Given the description of an element on the screen output the (x, y) to click on. 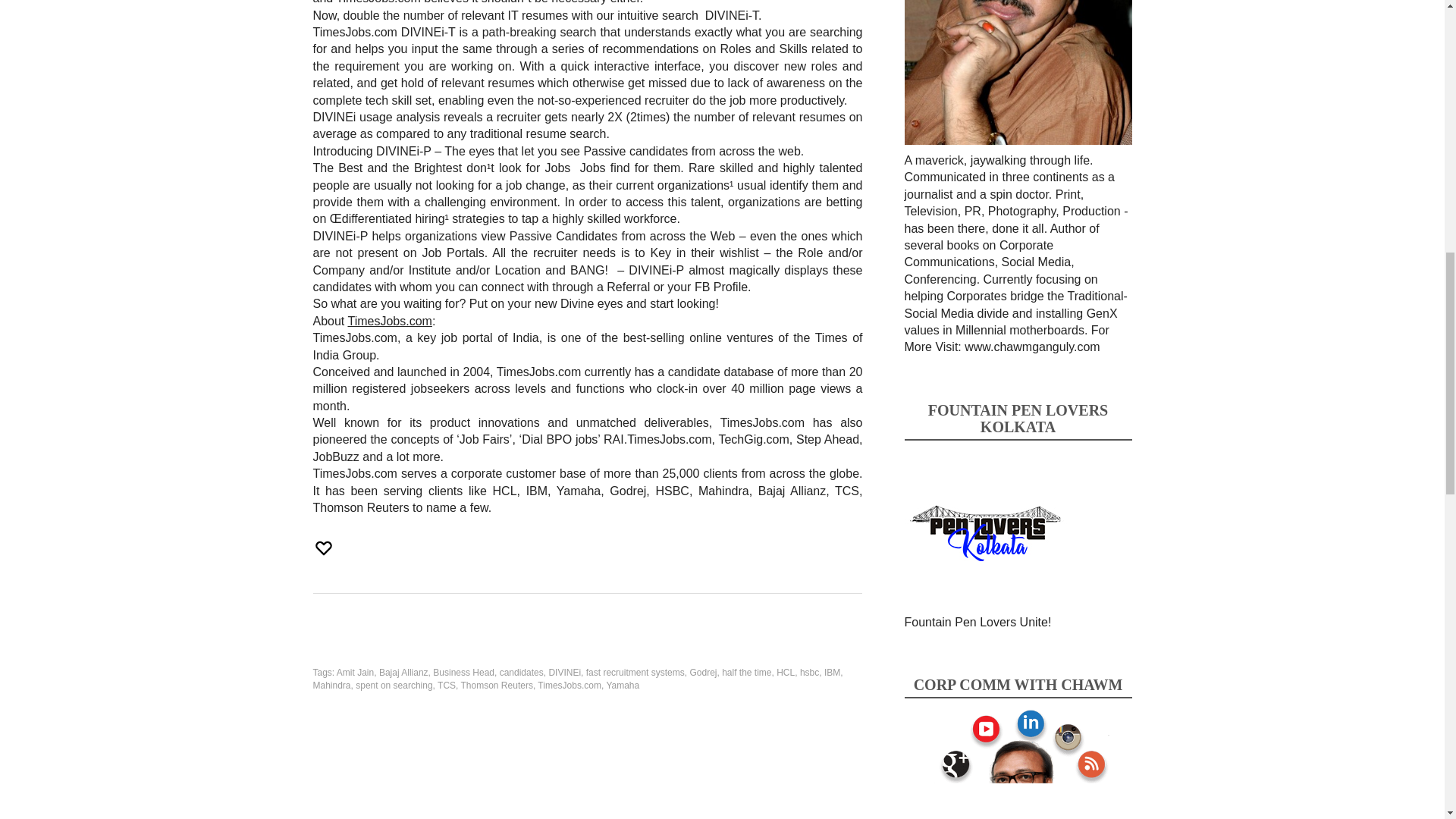
DIVINEi (564, 672)
TimesJobs.com (569, 685)
www.chawmganguly.com (1031, 346)
TimesJobs.com (388, 320)
Yamaha (622, 685)
spent on searching (393, 685)
TCS (446, 685)
Godrej (702, 672)
candidates (521, 672)
Recommend this (324, 547)
HCL (785, 672)
Share in Twitter (479, 643)
fast recruitment systems (635, 672)
Bajaj Allianz (403, 672)
Share in Facebook (327, 643)
